Given the description of an element on the screen output the (x, y) to click on. 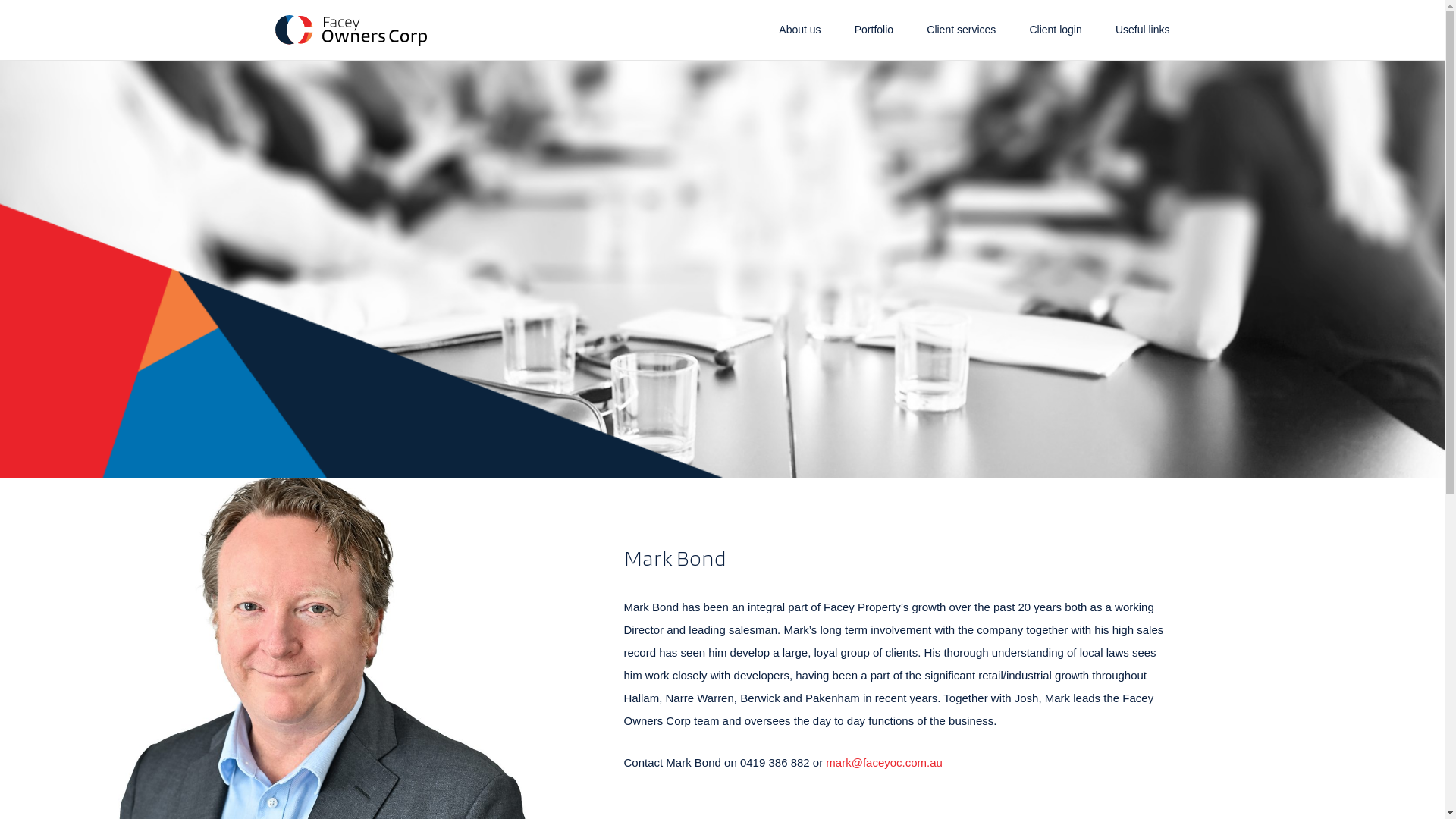
Portfolio Element type: text (873, 30)
About us Element type: text (799, 30)
Useful links Element type: text (1142, 30)
Client login Element type: text (1055, 30)
Client services Element type: text (960, 30)
mark@faceyoc.com.au Element type: text (883, 762)
